Given the description of an element on the screen output the (x, y) to click on. 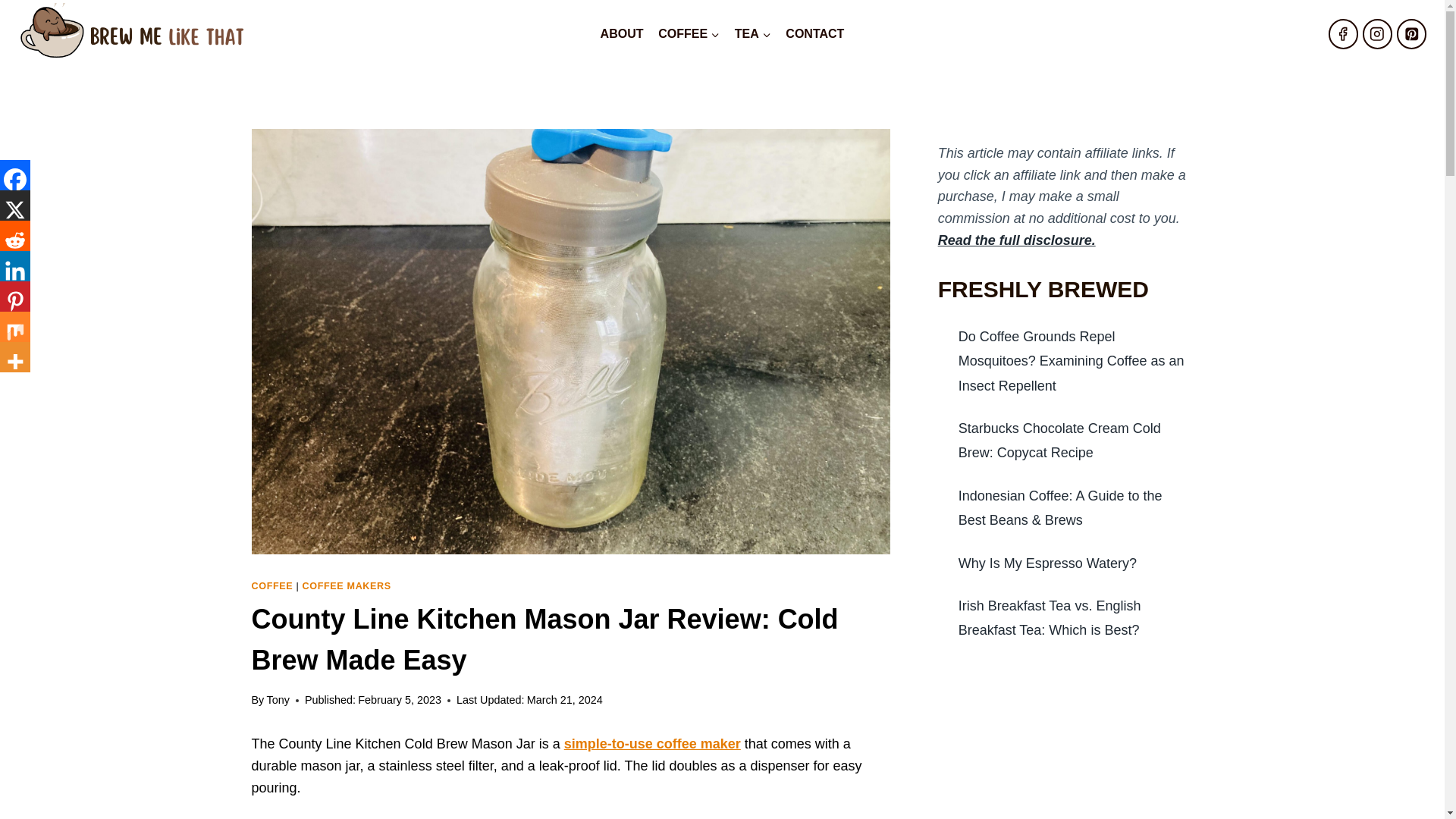
Reddit (15, 235)
Pinterest (15, 296)
Linkedin (15, 265)
COFFEE MAKERS (346, 585)
Mix (15, 327)
simple-to-use coffee maker (652, 743)
More (15, 357)
COFFEE (688, 33)
ABOUT (621, 33)
TEA (752, 33)
